Given the description of an element on the screen output the (x, y) to click on. 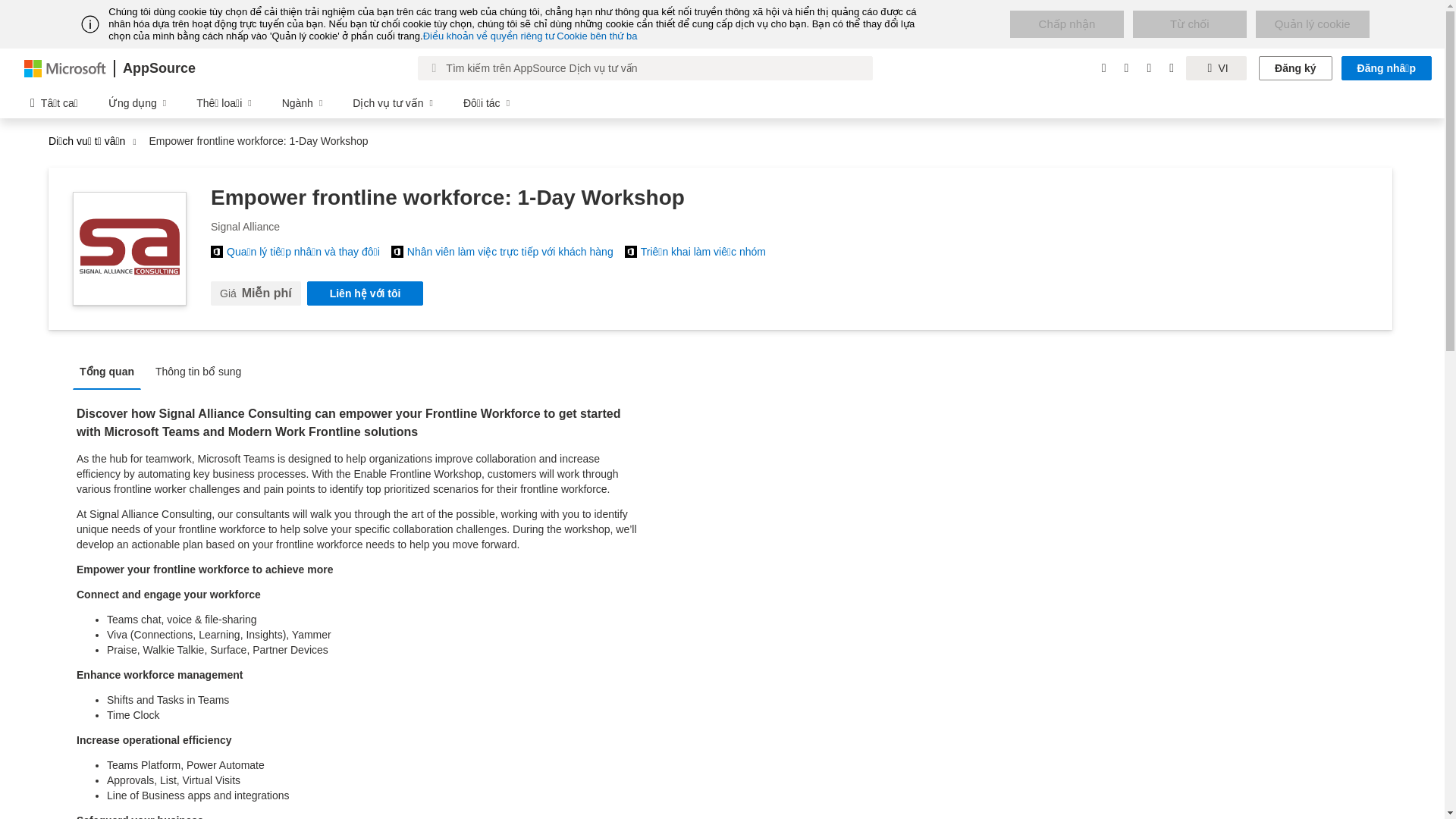
AppSource (158, 67)
Microsoft (65, 67)
